Given the description of an element on the screen output the (x, y) to click on. 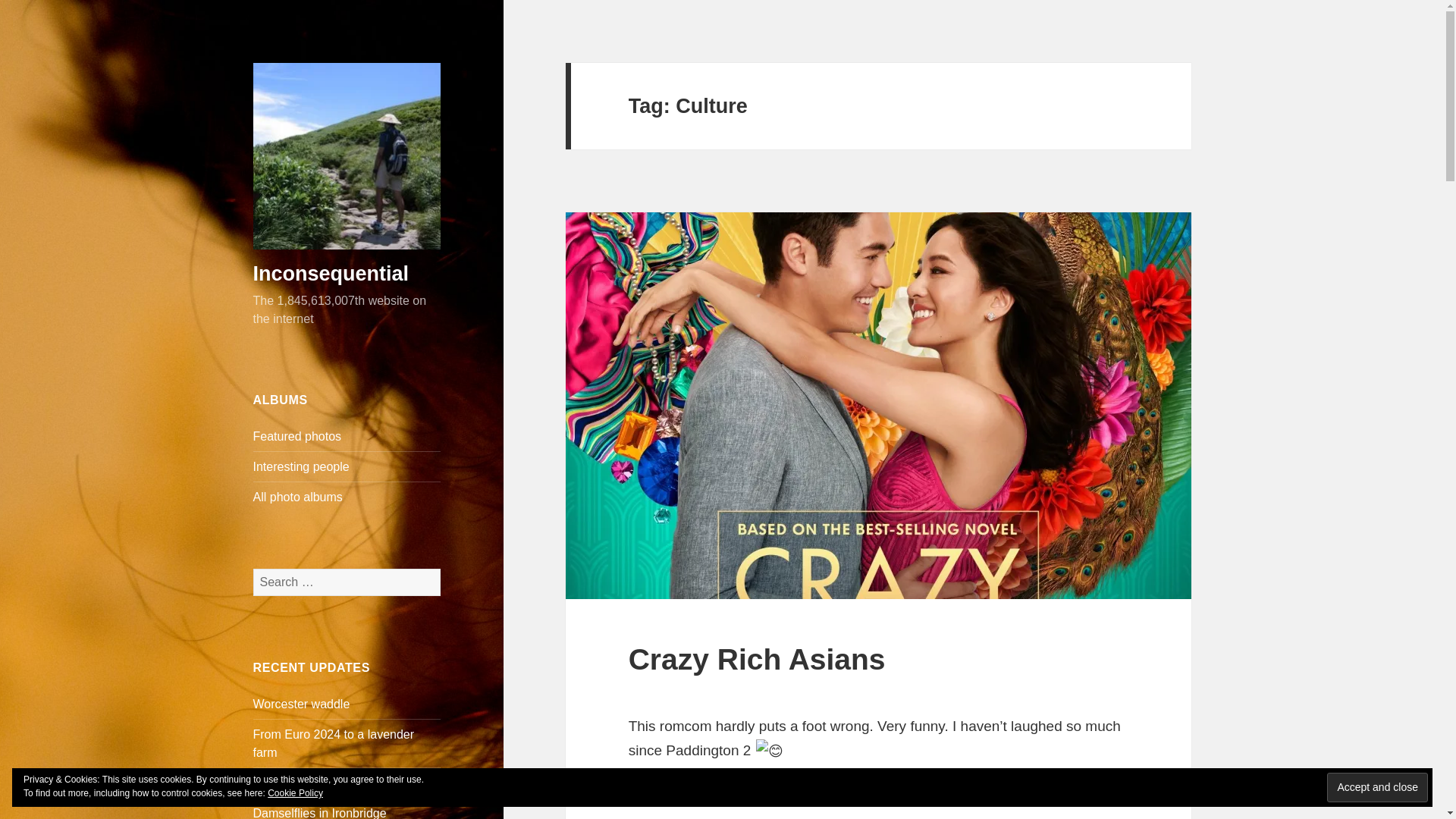
All photo albums (297, 496)
From Euro 2024 to a lavender farm (333, 743)
Worcester waddle (301, 703)
From Chequers to pizza (317, 782)
Featured photos (297, 436)
Inconsequential (331, 273)
Damselflies in Ironbridge (320, 812)
